Given the description of an element on the screen output the (x, y) to click on. 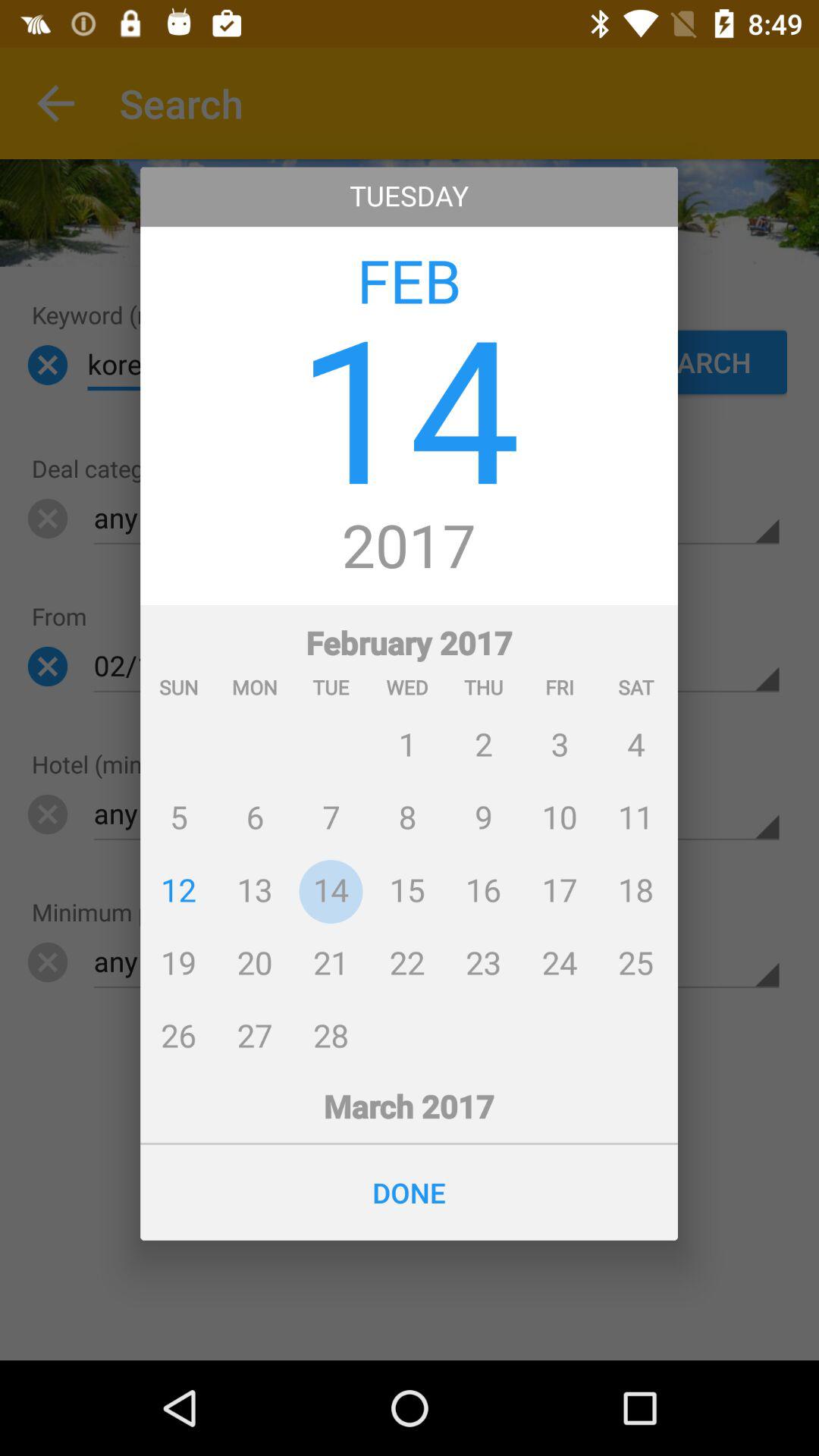
turn on icon below the 14 app (408, 547)
